Given the description of an element on the screen output the (x, y) to click on. 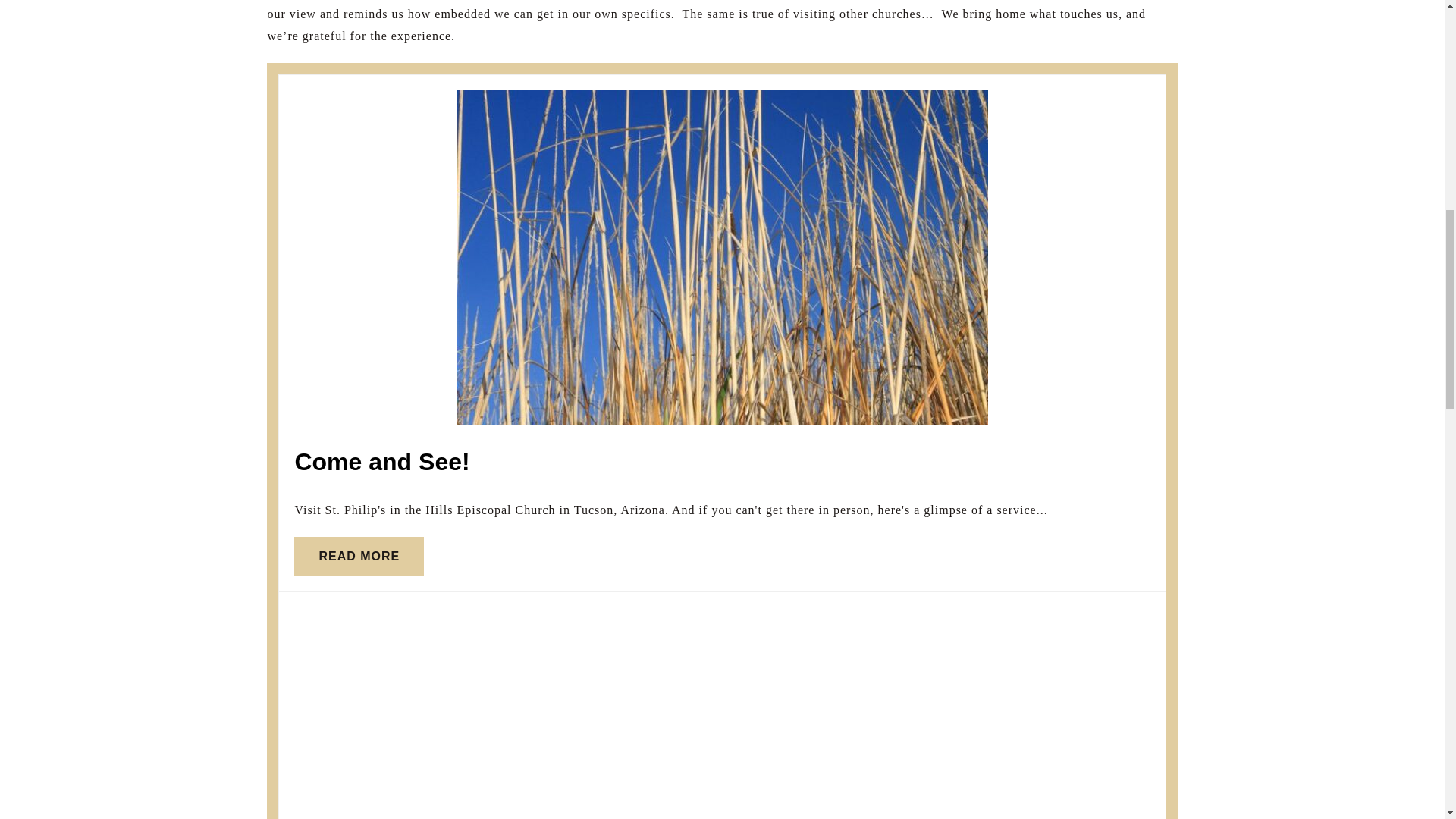
Come and See! (358, 556)
